Given the description of an element on the screen output the (x, y) to click on. 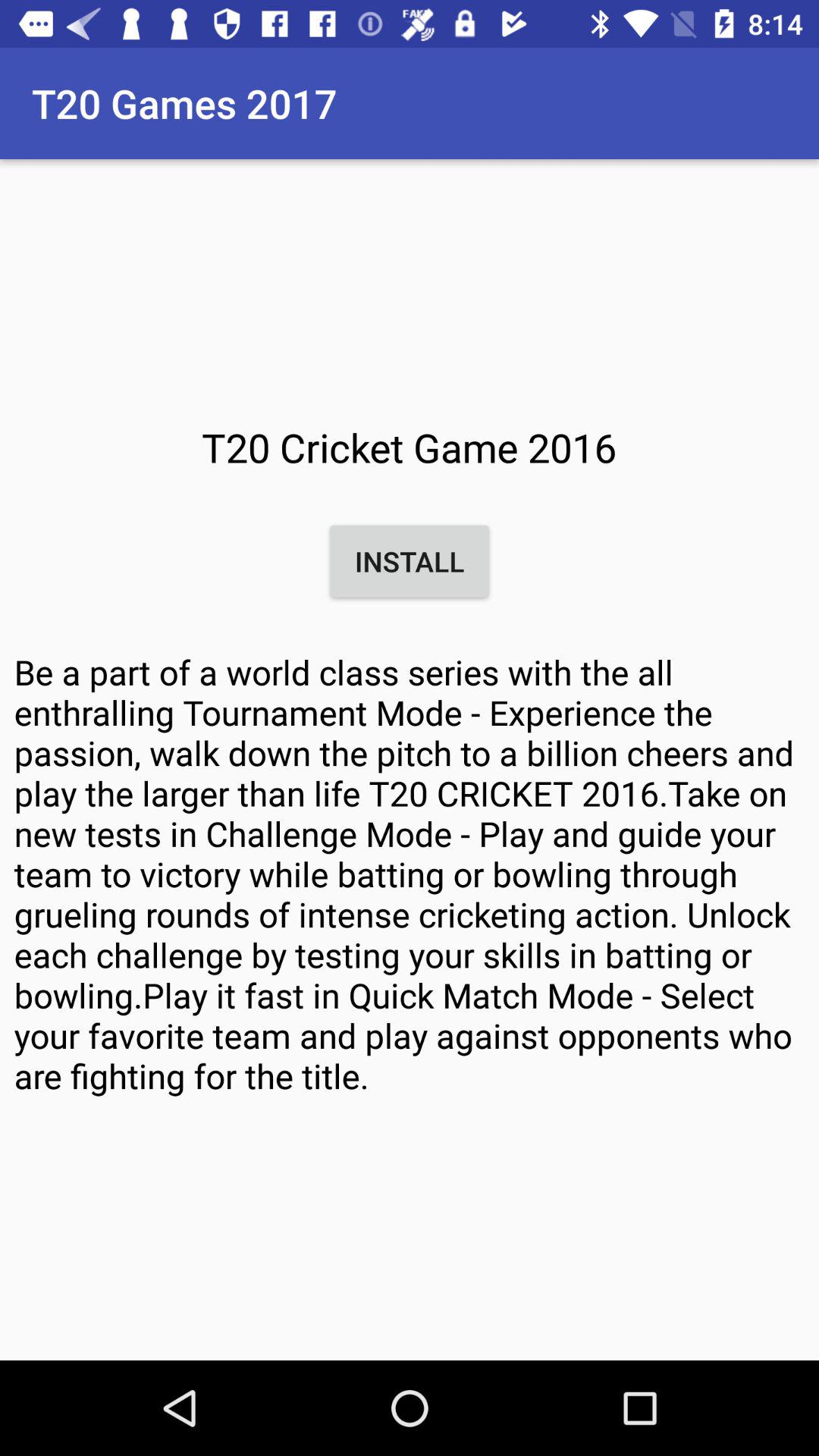
choose install item (409, 561)
